Given the description of an element on the screen output the (x, y) to click on. 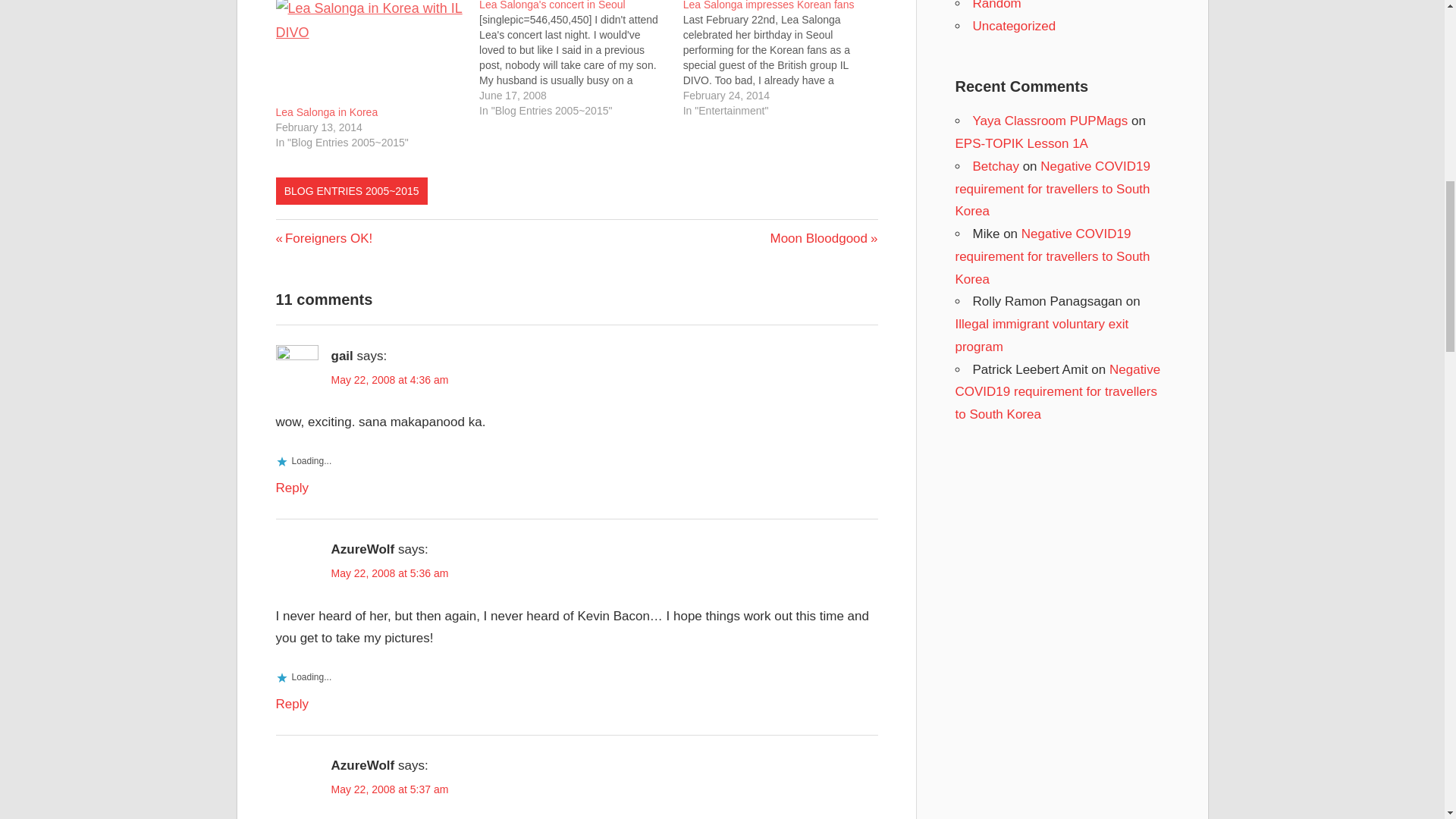
Lea Salonga in Korea (324, 237)
Lea Salonga in Korea (327, 111)
Lea Salonga impresses Korean fans (327, 111)
Lea Salonga in Korea (768, 5)
Lea Salonga impresses Korean fans (370, 52)
Lea Salonga's concert in Seoul (768, 5)
Lea Salonga impresses Korean fans (552, 5)
May 22, 2008 at 4:36 am (784, 58)
